Given the description of an element on the screen output the (x, y) to click on. 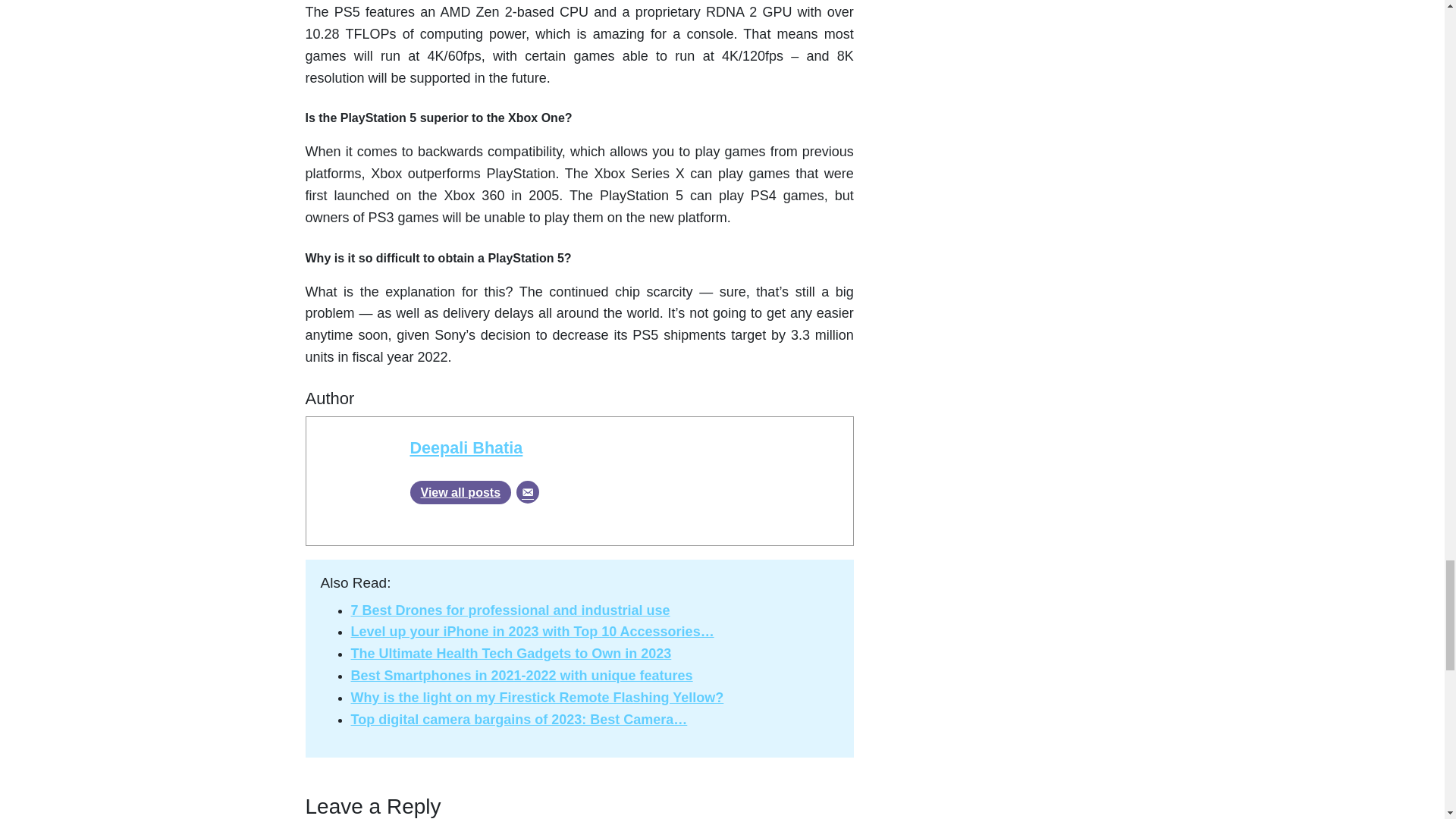
Why is the light on my Firestick Remote Flashing Yellow? (536, 697)
Deepali Bhatia (465, 447)
The Ultimate Health Tech Gadgets to Own in 2023 (510, 653)
View all posts (460, 492)
View all posts (460, 492)
Best Smartphones in 2021-2022 with unique features (521, 675)
Deepali Bhatia (465, 447)
7 Best Drones for professional and industrial use (509, 610)
